Given the description of an element on the screen output the (x, y) to click on. 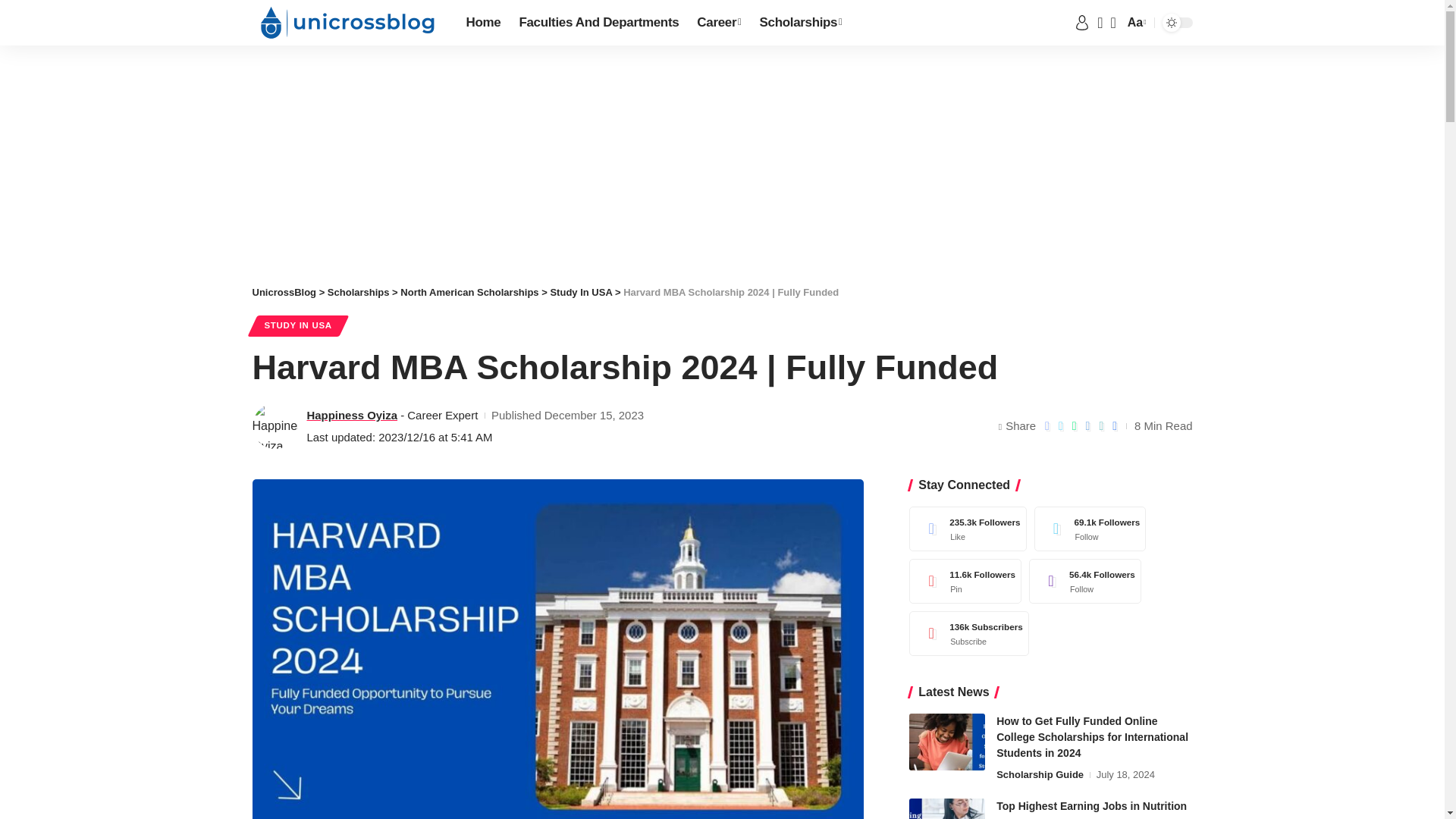
Go to the Scholarships Category archives. (358, 292)
Home (483, 22)
UnicrossBlog (346, 22)
Go to the North American Scholarships Category archives. (469, 292)
Faculties And Departments (598, 22)
Career (718, 22)
Scholarships (801, 22)
Go to the Study In USA Category archives. (580, 292)
Go to UnicrossBlog. (283, 292)
